Given the description of an element on the screen output the (x, y) to click on. 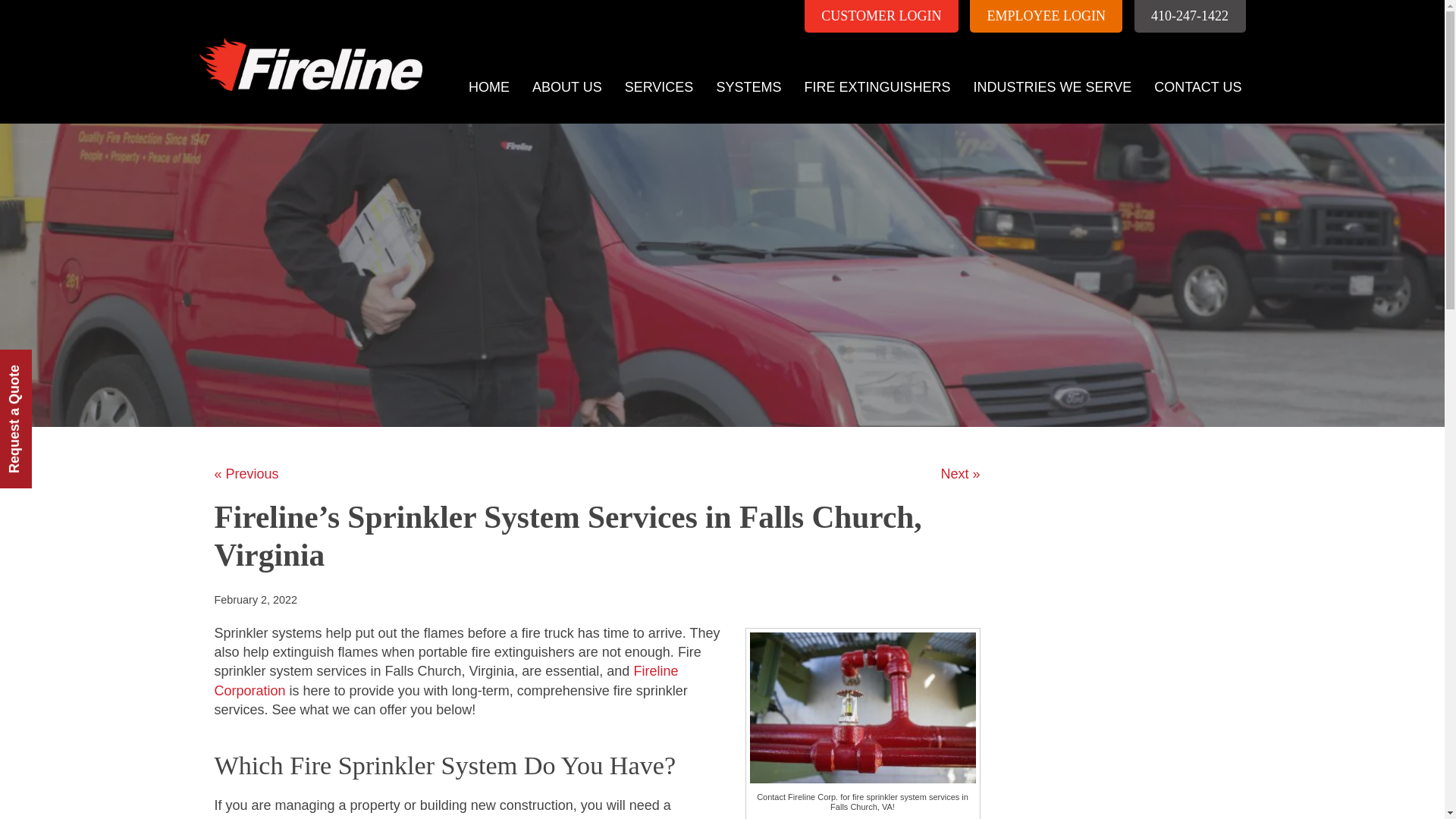
SERVICES (658, 87)
ABOUT US (566, 87)
Fireline (306, 45)
SYSTEMS (748, 87)
EMPLOYEE LOGIN (1045, 16)
410-247-1422 (1190, 16)
CUSTOMER LOGIN (881, 16)
FIRE EXTINGUISHERS (876, 87)
INDUSTRIES WE SERVE (1051, 87)
